Given the description of an element on the screen output the (x, y) to click on. 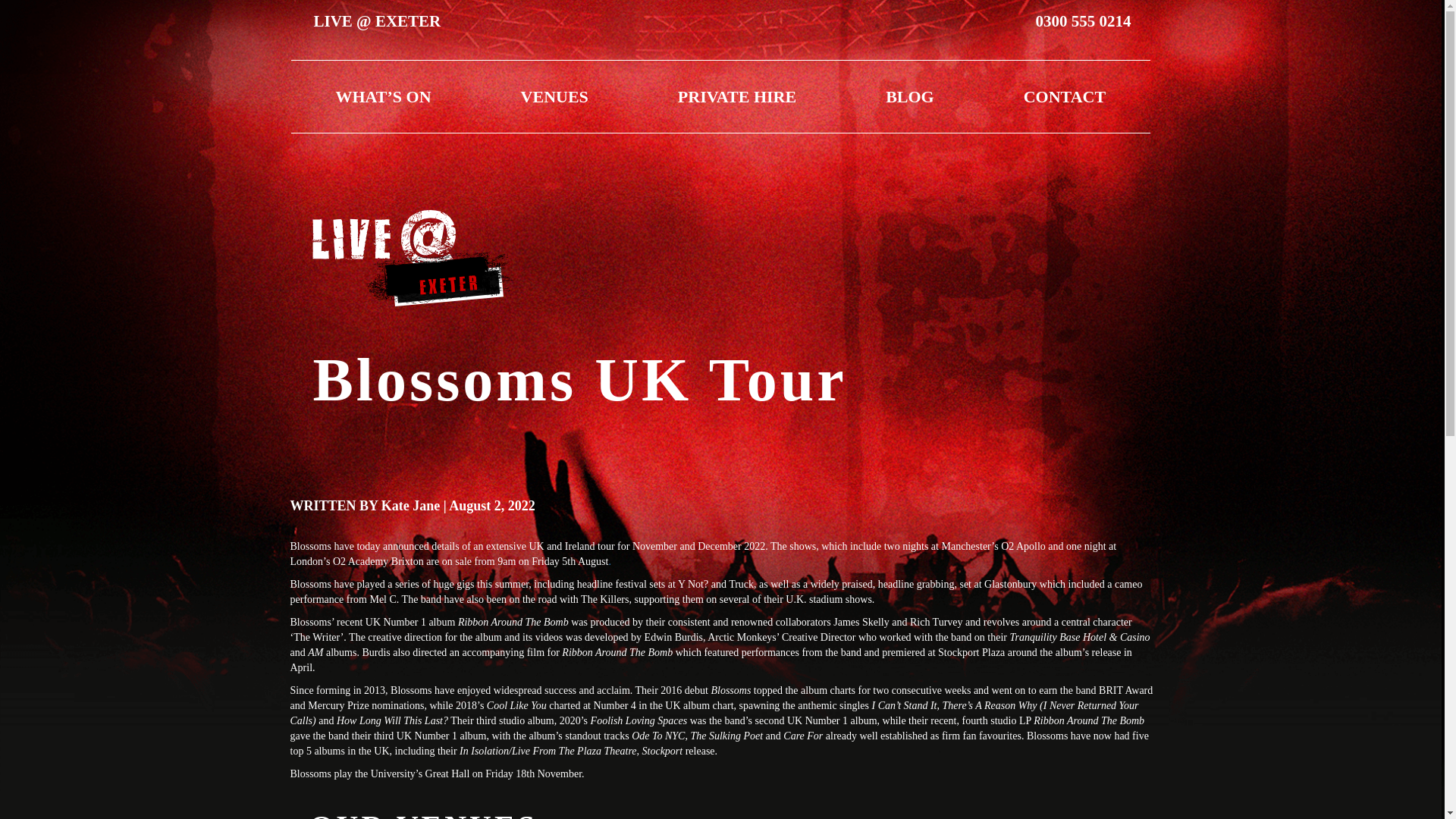
. (609, 561)
PRIVATE HIRE (737, 96)
CONTACT (1064, 96)
BLOG (909, 96)
VENUES (554, 96)
